Given the description of an element on the screen output the (x, y) to click on. 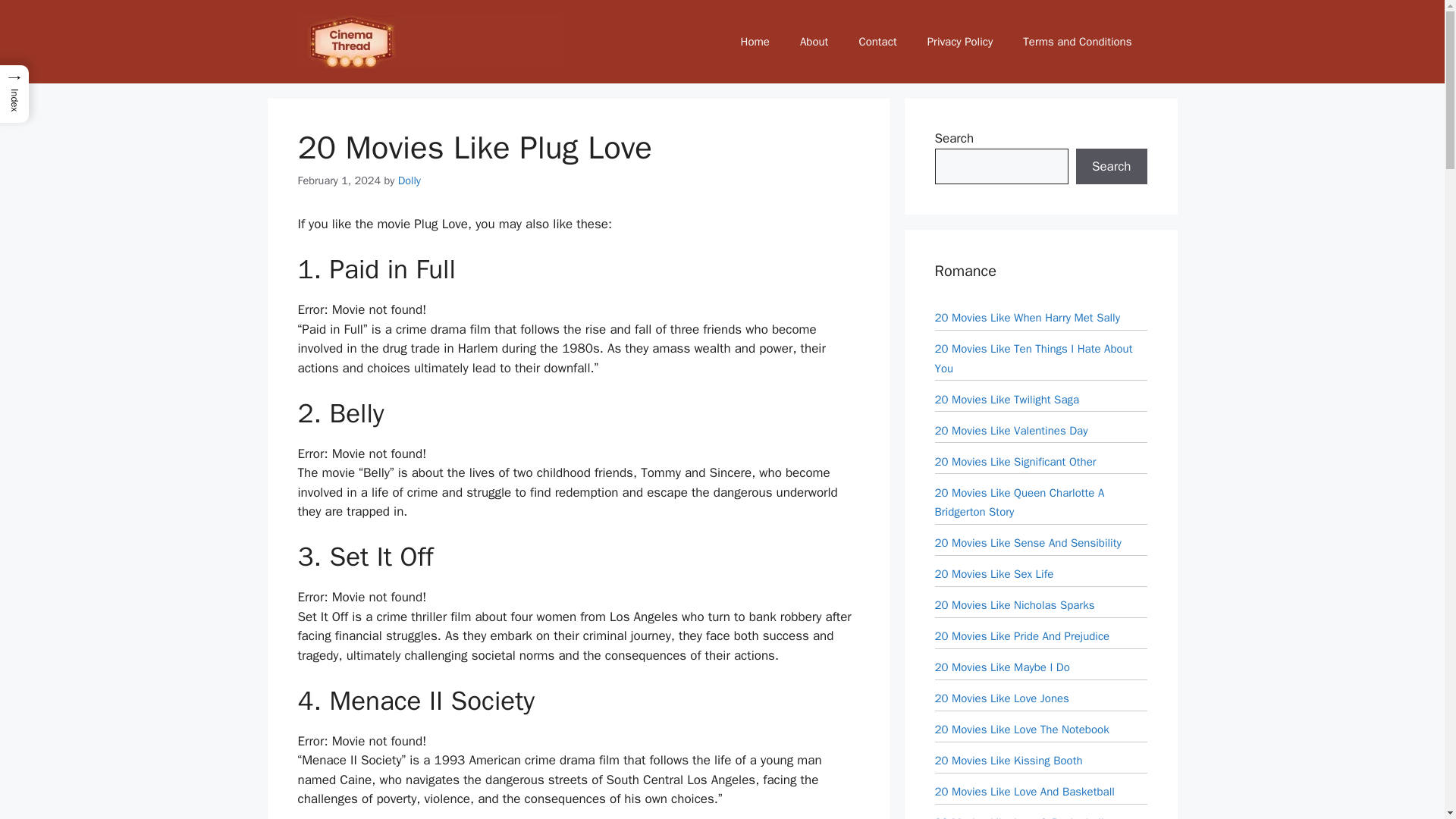
20 Movies Like Maybe I Do (1001, 667)
20 Movies Like Valentines Day (1010, 429)
20 Movies Like Kissing Booth (1007, 760)
20 Movies Like Pride And Prejudice (1021, 635)
20 Movies Like Sex Life (993, 573)
20 Movies Like Love And Basketball (1023, 791)
View all posts by Dolly (408, 180)
20 Movies Like Ten Things I Hate About You (1033, 358)
Search (1111, 166)
20 Movies Like Valentines Day (1010, 429)
